Given the description of an element on the screen output the (x, y) to click on. 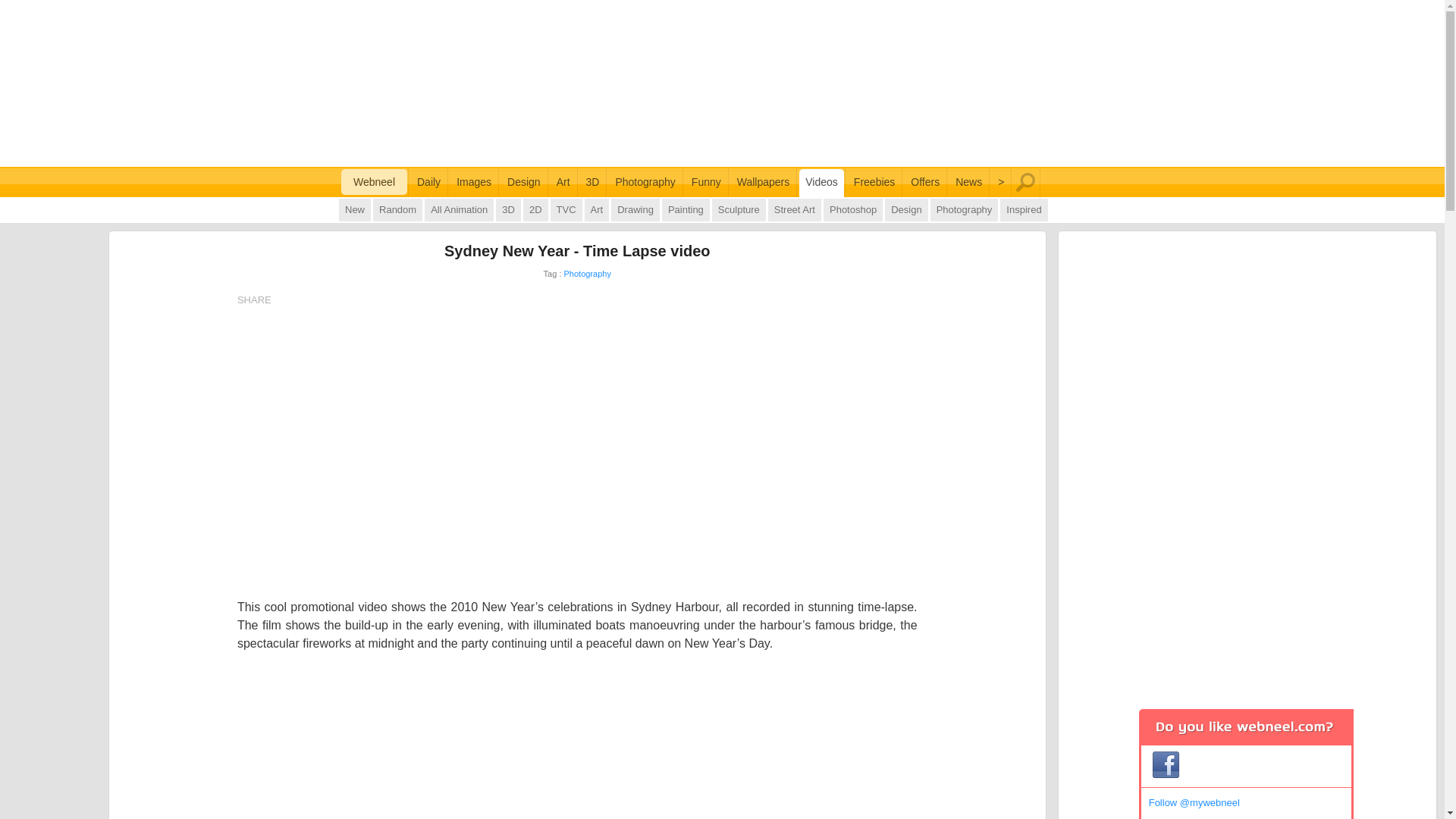
Art (563, 181)
3D (508, 210)
All Animation (459, 210)
Advertisement (722, 82)
News (968, 181)
New (355, 210)
Offers (924, 181)
Design (523, 181)
3D (592, 181)
Drawing (635, 210)
